Given the description of an element on the screen output the (x, y) to click on. 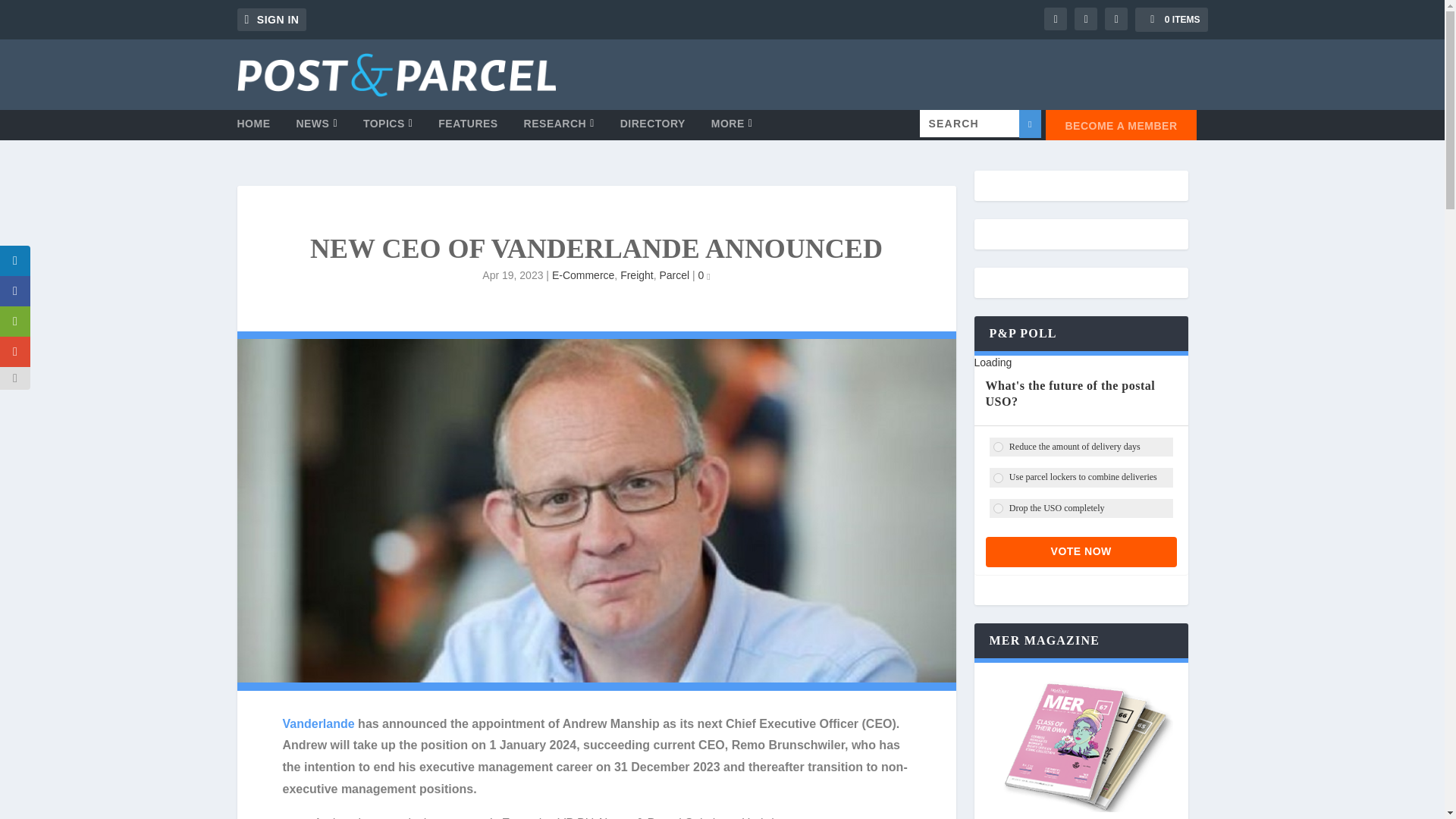
0 ITEMS (1171, 19)
NEWS (316, 128)
TOPICS (387, 128)
280 (997, 447)
282 (997, 508)
FEATURES (467, 128)
SIGN IN (270, 19)
HOME (252, 128)
0 Items in Cart (1171, 19)
281 (997, 478)
